Given the description of an element on the screen output the (x, y) to click on. 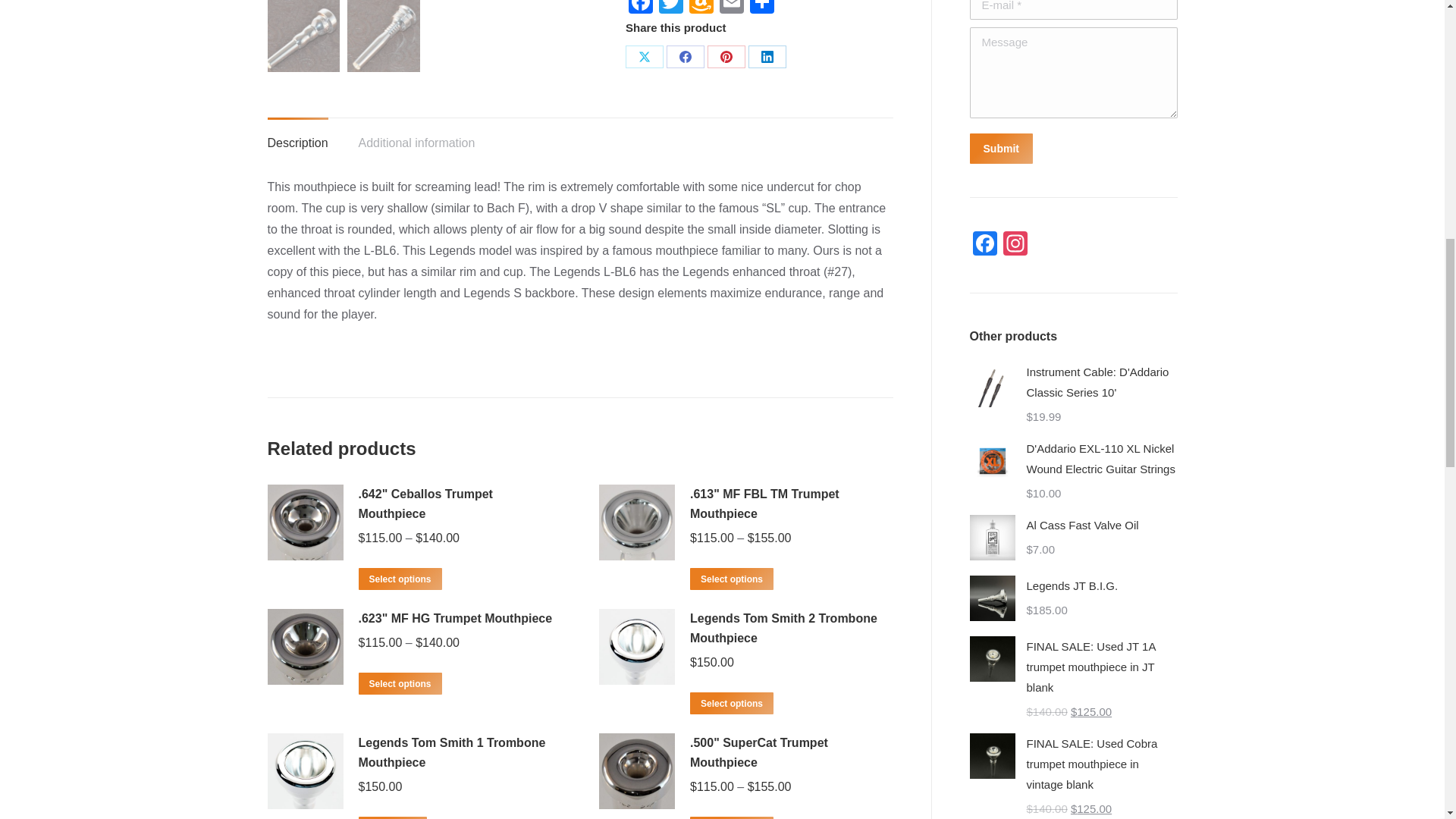
submit (1073, 150)
